Given the description of an element on the screen output the (x, y) to click on. 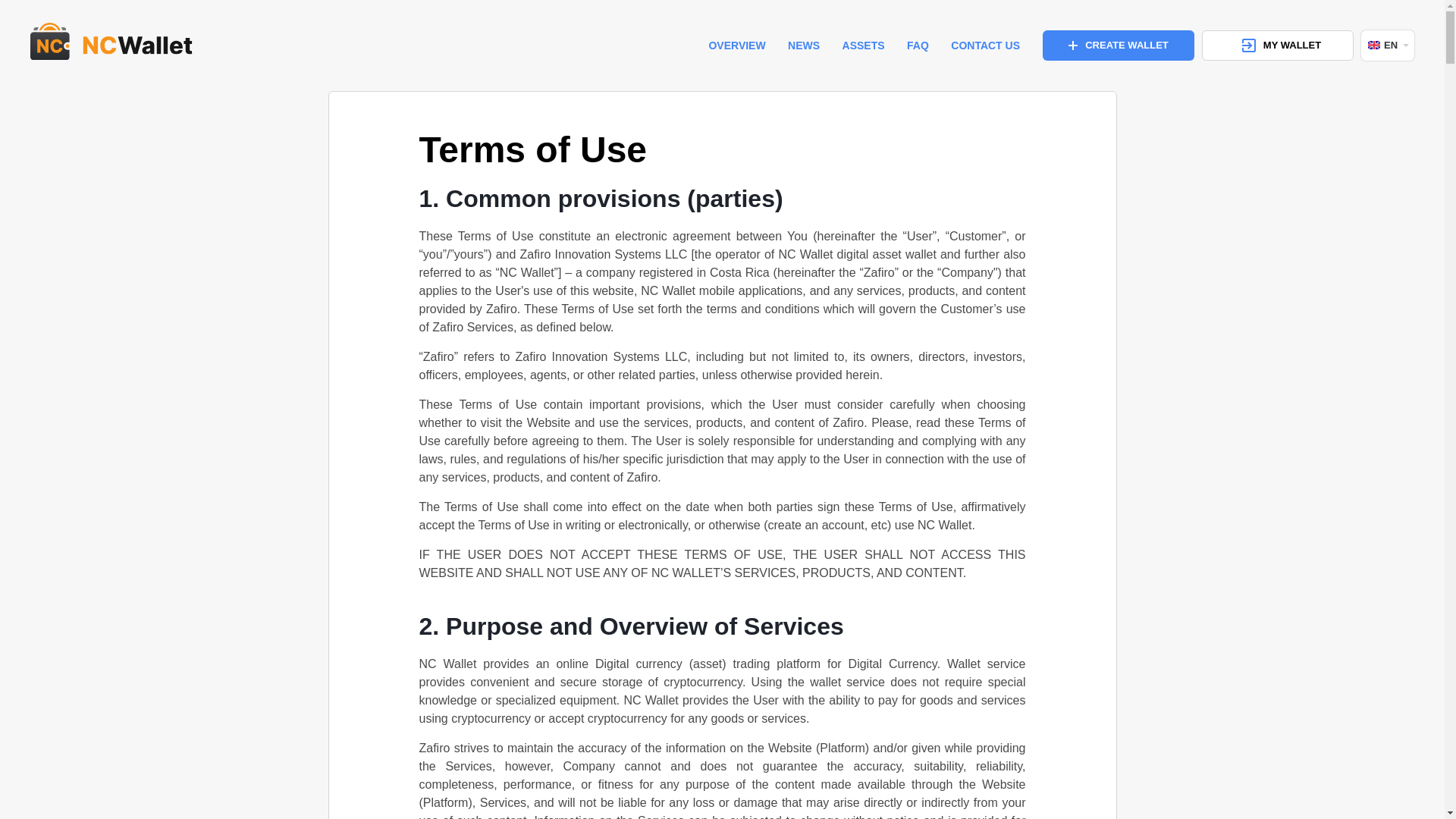
CREATE WALLET (1117, 45)
OVERVIEW (736, 45)
FAQ (917, 45)
NEWS (803, 45)
ASSETS (864, 45)
MY WALLET (1278, 45)
CONTACT US (985, 45)
